Given the description of an element on the screen output the (x, y) to click on. 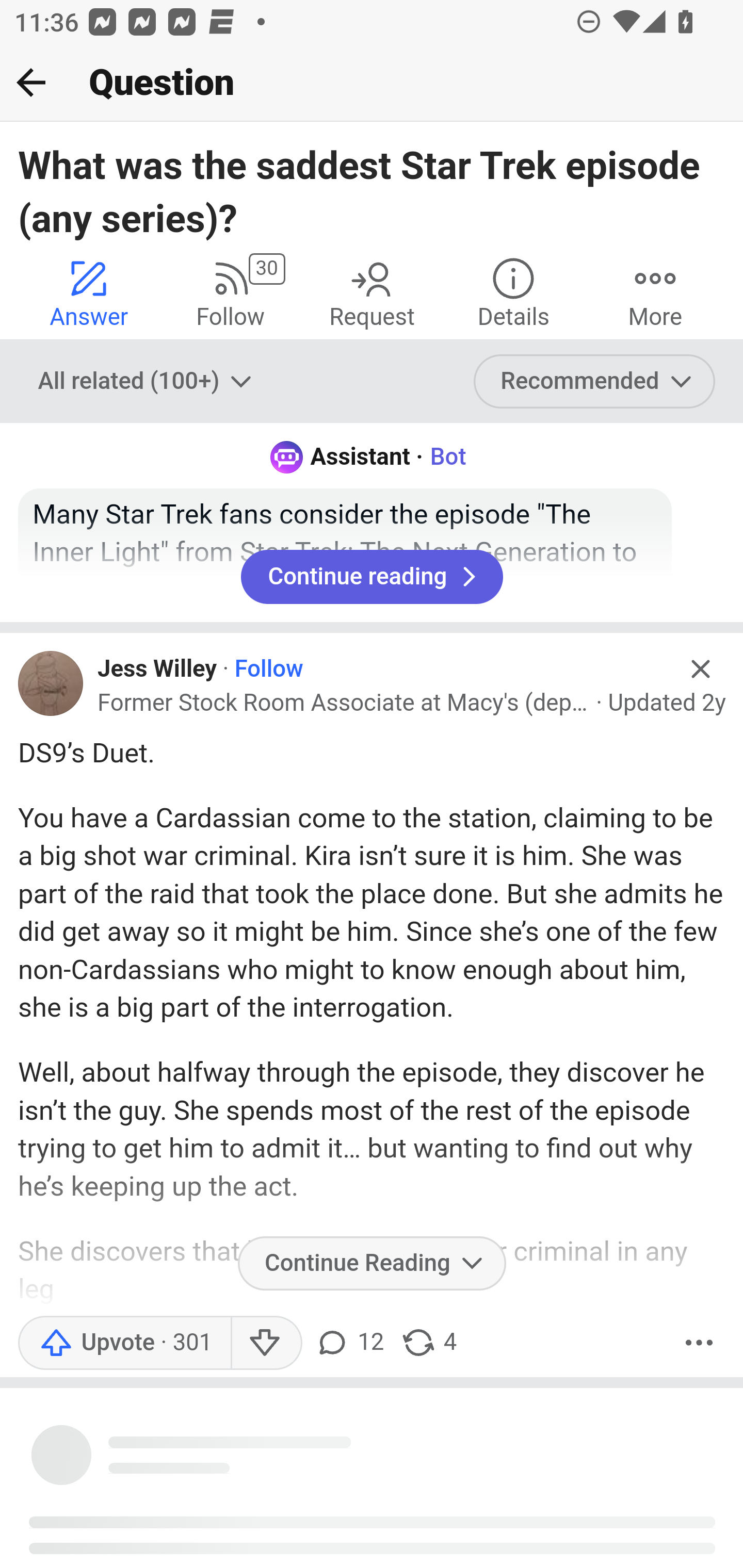
Back (30, 82)
Answer (88, 292)
30 Follow (230, 292)
Request (371, 292)
Details (513, 292)
More (655, 292)
All related (100+) (146, 381)
Recommended (594, 381)
Continue reading (371, 576)
Hide (700, 669)
Profile photo for Jess Willey (50, 683)
Jess Willey (157, 669)
Follow (267, 669)
Continue Reading (371, 1263)
Upvote (124, 1341)
Downvote (266, 1341)
12 comments (349, 1341)
4 shares (428, 1341)
More (699, 1341)
